Given the description of an element on the screen output the (x, y) to click on. 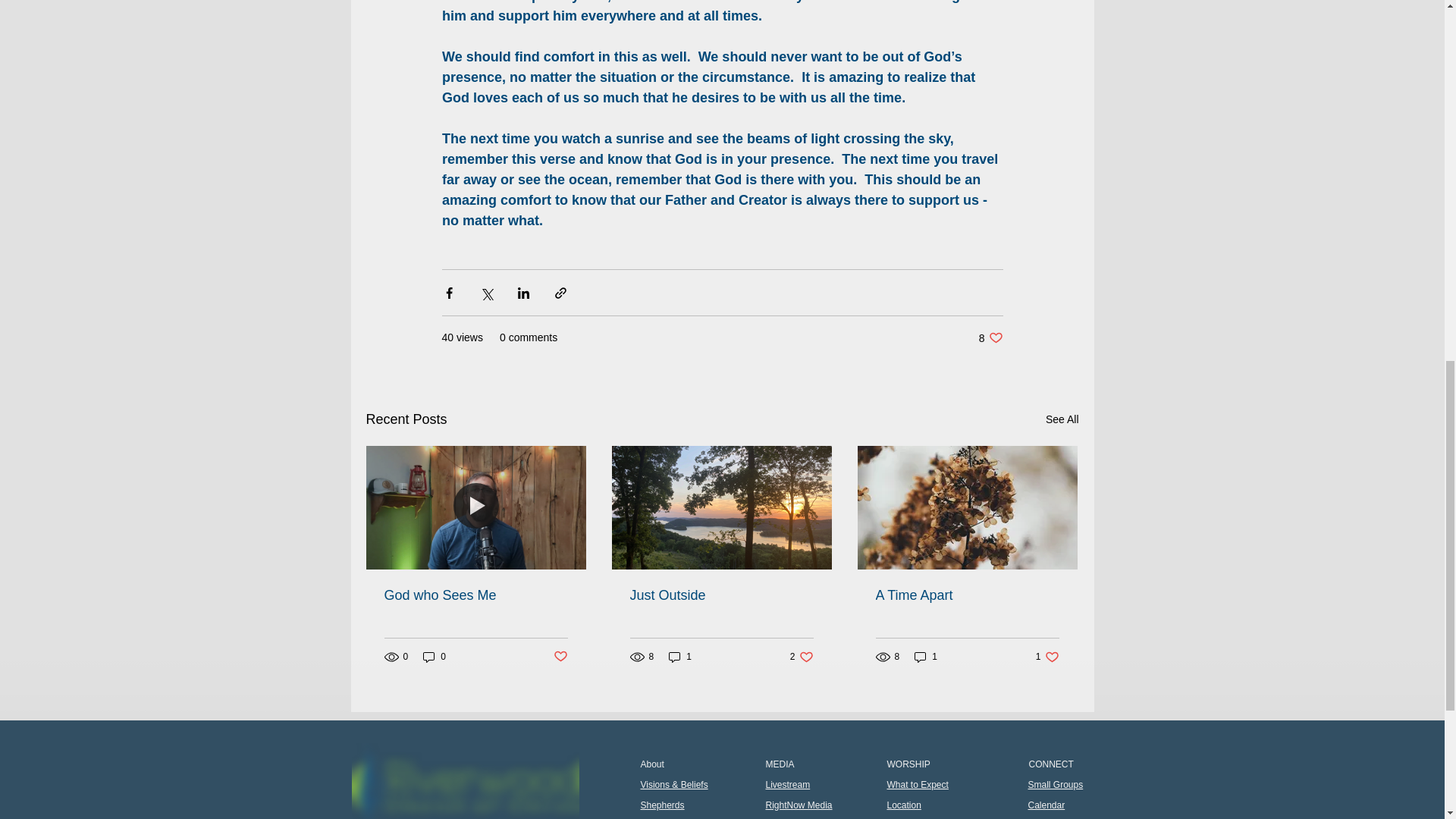
Just Outside (990, 337)
A Time Apart (720, 595)
Post not marked as liked (1047, 657)
1 (966, 595)
See All (560, 657)
0 (925, 657)
Logo3b.png (1061, 419)
God who Sees Me (434, 657)
1 (465, 780)
